Given the description of an element on the screen output the (x, y) to click on. 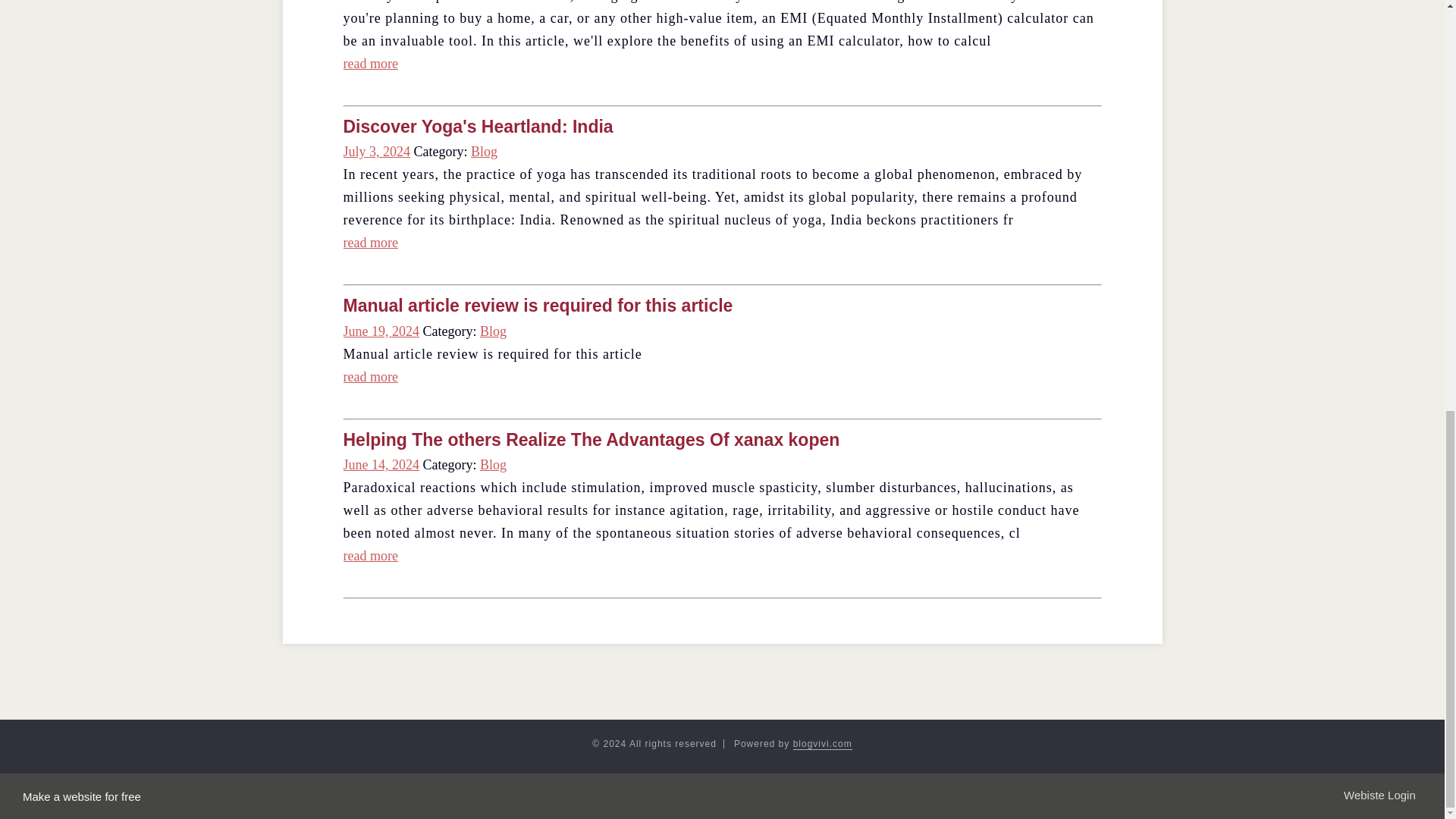
read more (369, 376)
July 3, 2024 (376, 151)
Blog (483, 151)
Manual article review is required for this article (537, 305)
June 19, 2024 (380, 331)
Blog (493, 331)
read more (369, 555)
read more (369, 63)
Helping The others Realize The Advantages Of xanax kopen (591, 439)
read more (369, 242)
June 14, 2024 (380, 464)
Discover Yoga's Heartland: India (477, 126)
Blog (493, 464)
